Given the description of an element on the screen output the (x, y) to click on. 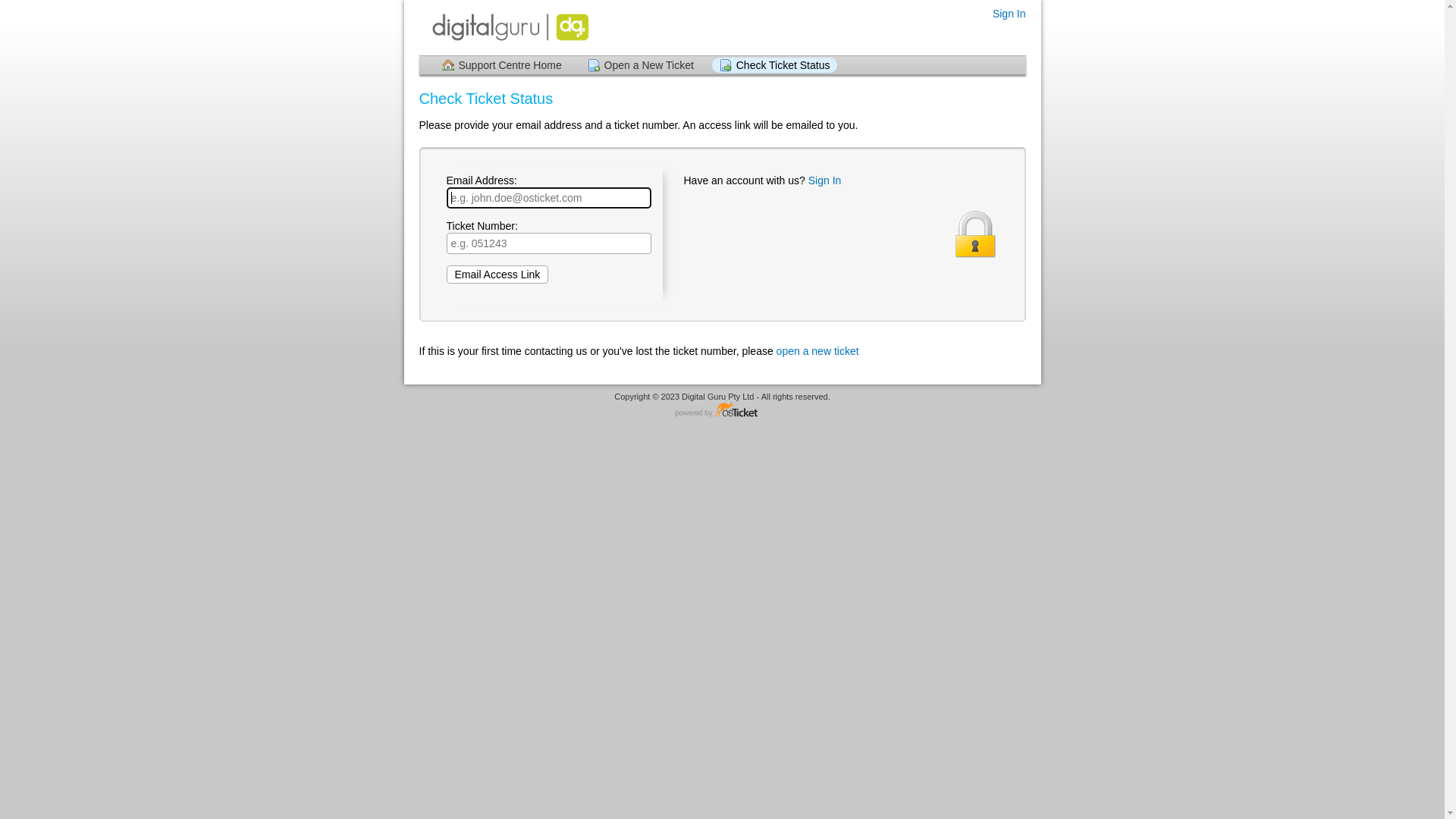
Check Ticket Status Element type: text (774, 64)
Sign In Element type: text (824, 180)
Helpdesk software - powered by osTicket Element type: text (722, 410)
Email Access Link Element type: text (496, 274)
Open a New Ticket Element type: text (640, 64)
open a new ticket Element type: text (817, 351)
Support Centre Element type: hover (508, 26)
Sign In Element type: text (1009, 13)
Support Centre Home Element type: text (500, 64)
